Given the description of an element on the screen output the (x, y) to click on. 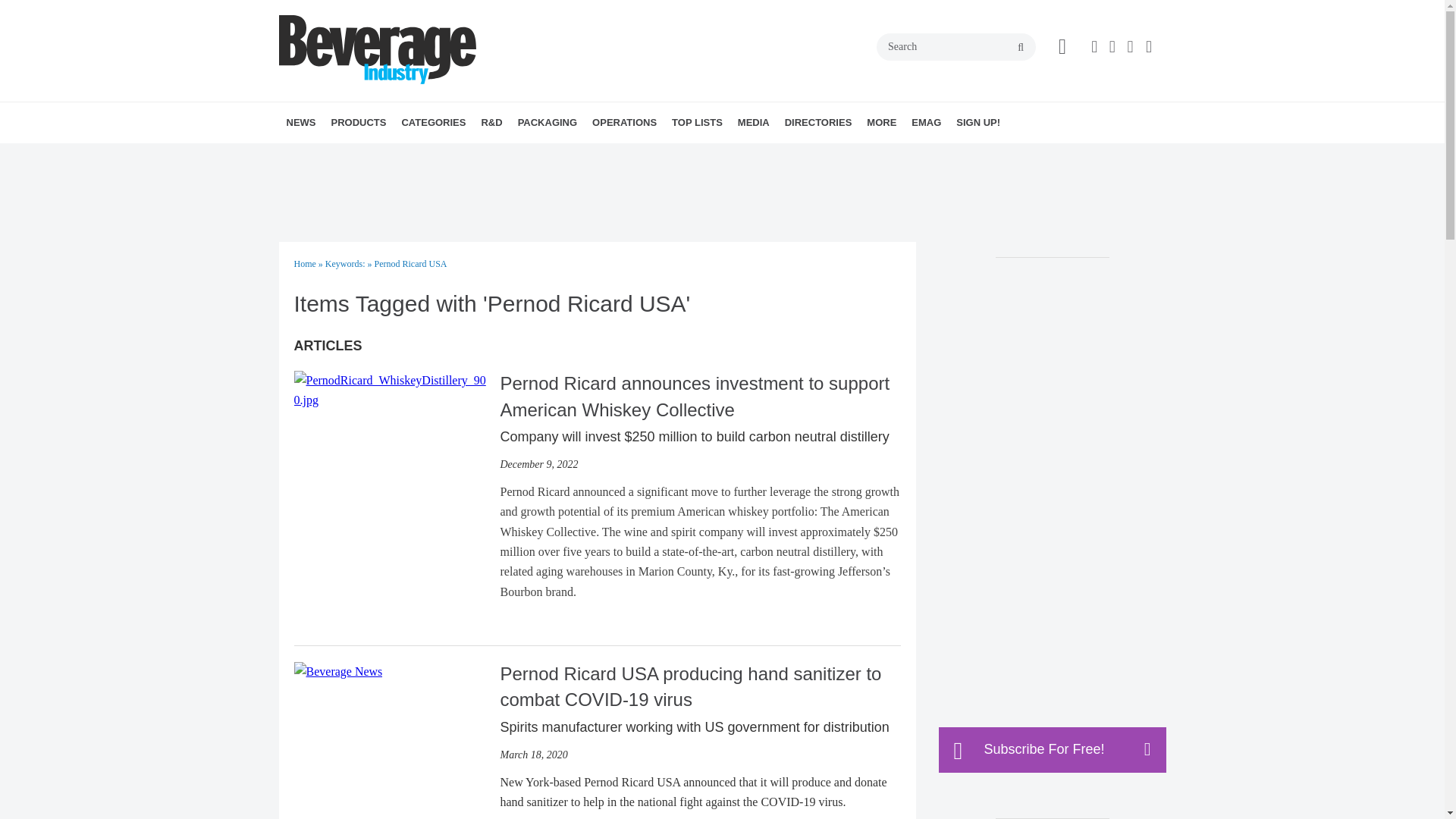
INGREDIENT SPOTLIGHT (574, 155)
NEWS (301, 122)
Search (955, 46)
Search (955, 46)
BOTTLED WATER (501, 155)
PACKAGING EQUIPMENT (611, 155)
SUPPLIER NEWS (380, 155)
NEW PACKAGES (605, 155)
BEER (496, 155)
